Given the description of an element on the screen output the (x, y) to click on. 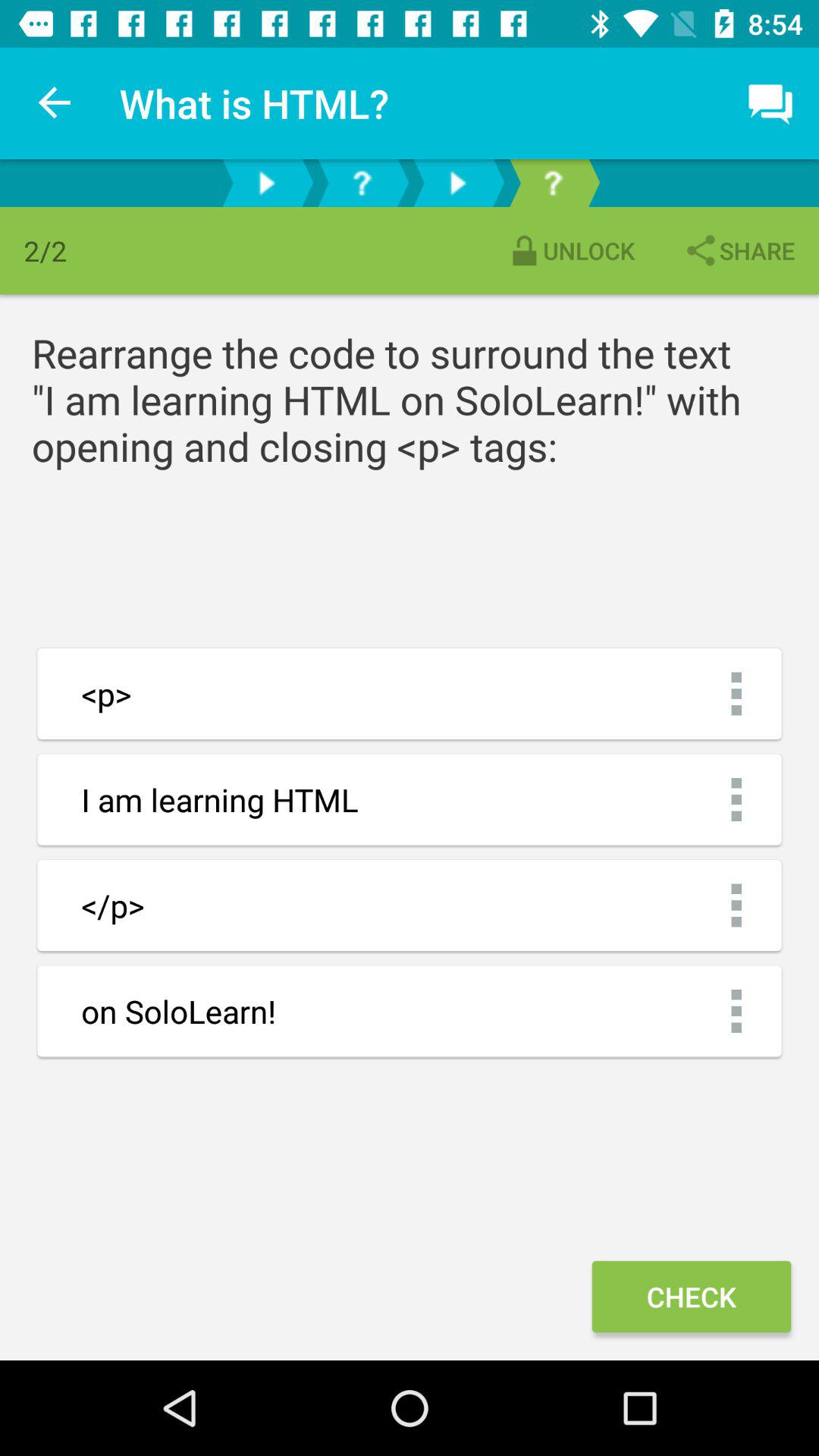
go to explanation (552, 183)
